Given the description of an element on the screen output the (x, y) to click on. 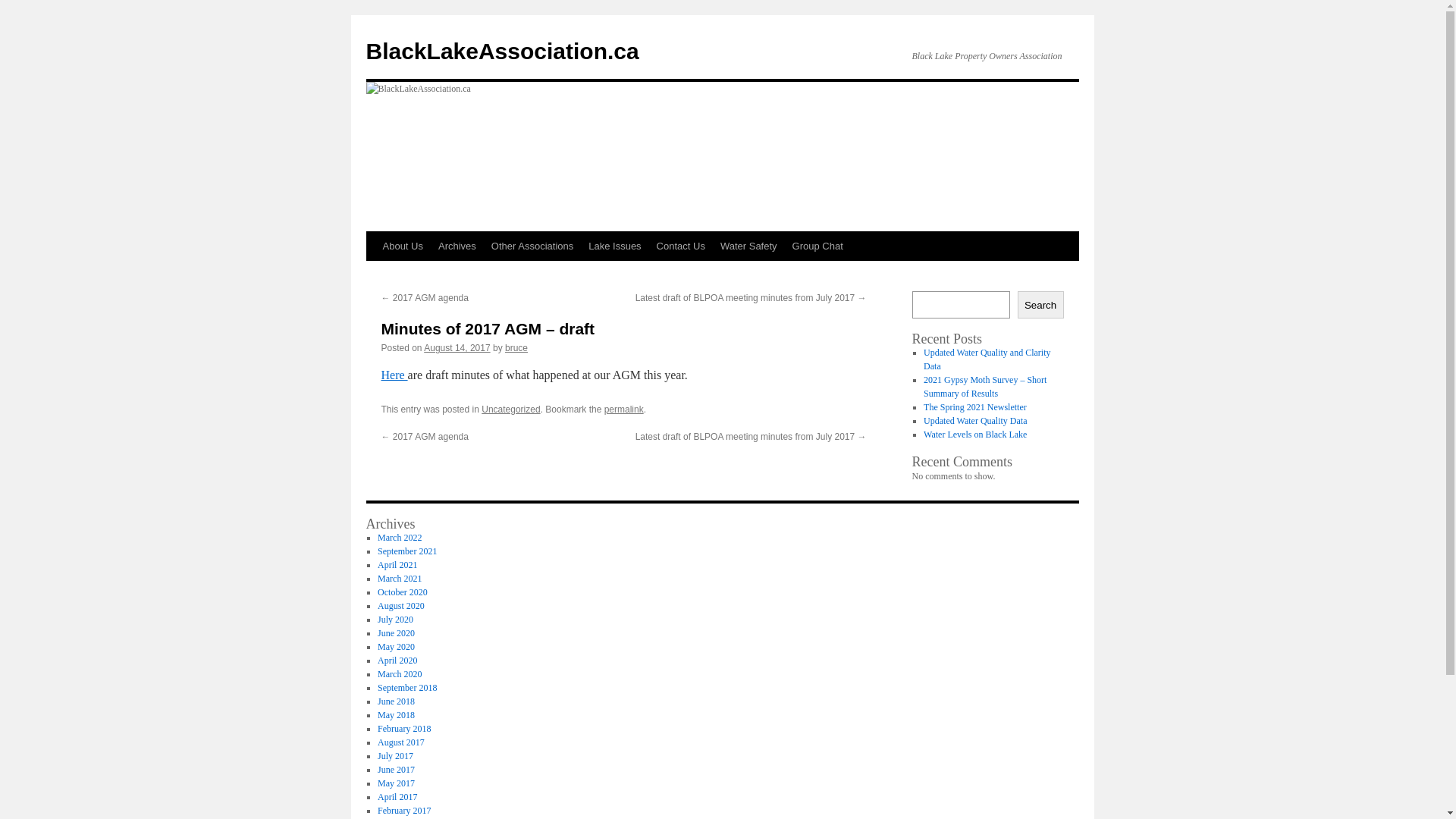
March 2022 Element type: text (399, 537)
Lake Issues Element type: text (614, 246)
August 14, 2017 Element type: text (456, 347)
May 2020 Element type: text (395, 646)
March 2020 Element type: text (399, 673)
Group Chat Element type: text (817, 246)
June 2017 Element type: text (395, 769)
June 2018 Element type: text (395, 701)
Skip to content Element type: text (372, 274)
August 2017 Element type: text (400, 742)
October 2020 Element type: text (402, 591)
Water Levels on Black Lake Element type: text (974, 434)
About Us Element type: text (401, 246)
Water Safety Element type: text (748, 246)
Uncategorized Element type: text (510, 409)
Search Element type: text (1040, 304)
The Spring 2021 Newsletter Element type: text (974, 406)
Contact Us Element type: text (680, 246)
April 2017 Element type: text (397, 796)
September 2018 Element type: text (406, 687)
bruce Element type: text (516, 347)
Updated Water Quality Data Element type: text (974, 420)
February 2017 Element type: text (403, 810)
Updated Water Quality and Clarity Data Element type: text (986, 359)
February 2018 Element type: text (403, 728)
July 2020 Element type: text (395, 619)
September 2021 Element type: text (406, 551)
August 2020 Element type: text (400, 605)
Here Element type: text (393, 374)
May 2017 Element type: text (395, 783)
June 2020 Element type: text (395, 632)
Other Associations Element type: text (531, 246)
March 2021 Element type: text (399, 578)
April 2020 Element type: text (397, 660)
Archives Element type: text (456, 246)
May 2018 Element type: text (395, 714)
permalink Element type: text (623, 409)
July 2017 Element type: text (395, 755)
April 2021 Element type: text (397, 564)
BlackLakeAssociation.ca Element type: text (501, 50)
